Given the description of an element on the screen output the (x, y) to click on. 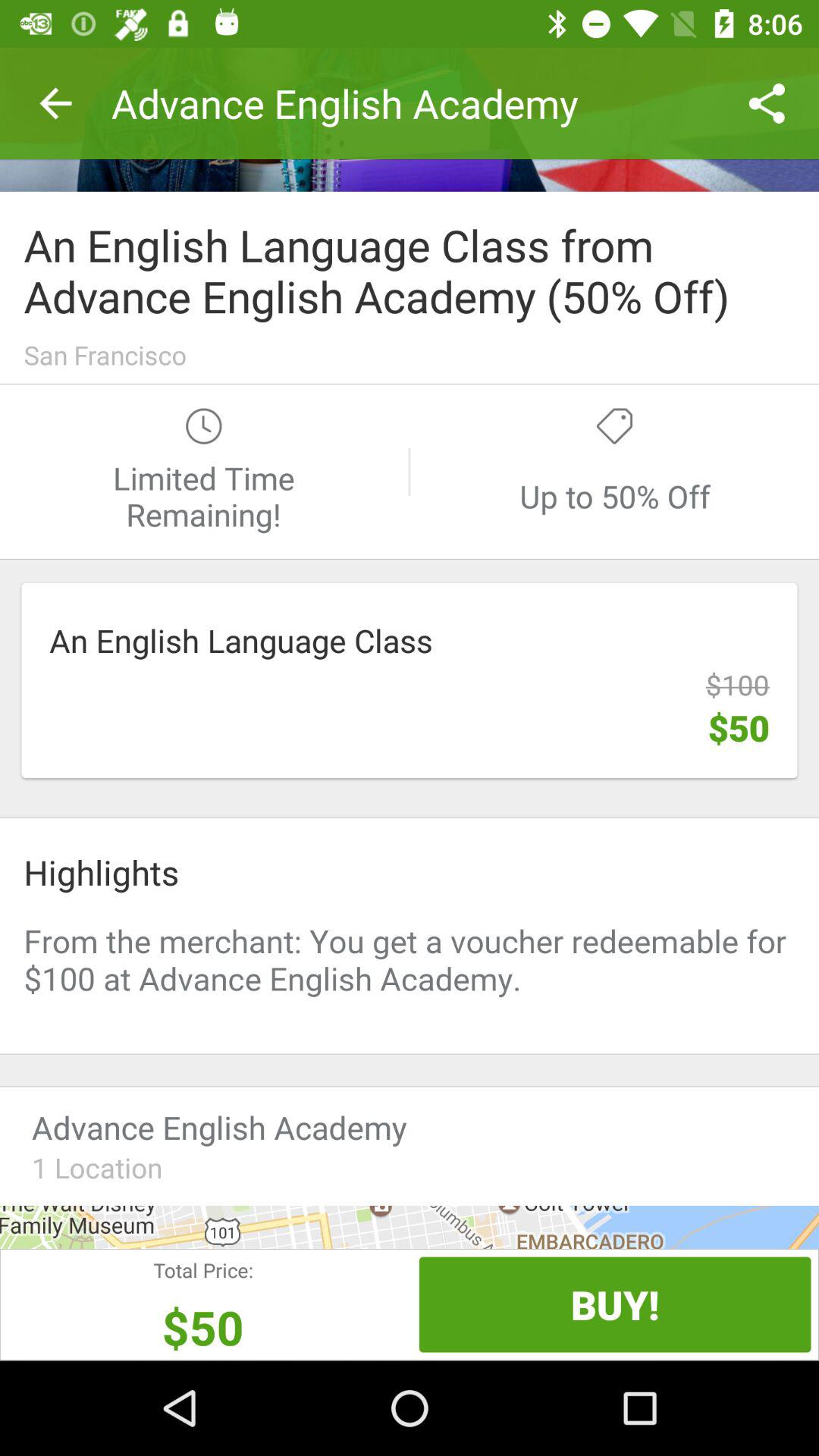
advertisement (409, 966)
